Given the description of an element on the screen output the (x, y) to click on. 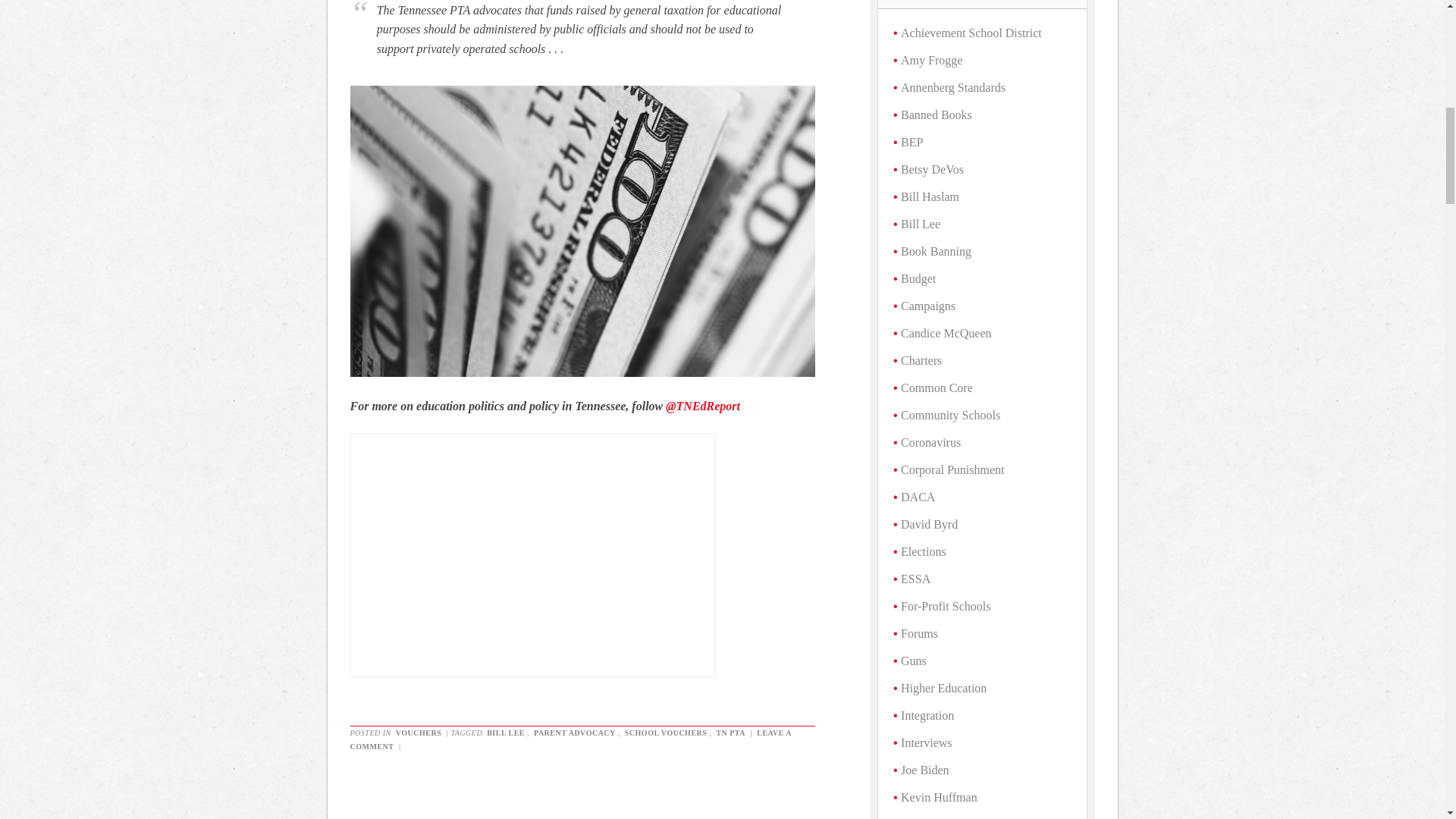
BILL LEE (505, 732)
Banned Books (936, 114)
Campaigns (928, 305)
Book Banning (936, 250)
Amy Frogge (931, 60)
PARENT ADVOCACY (574, 732)
Bill Lee (920, 223)
Betsy DeVos (932, 169)
BEP (912, 141)
Achievement School District (971, 32)
Annenberg Standards (953, 87)
Budget (918, 278)
Bill Haslam (930, 196)
SCHOOL VOUCHERS (666, 732)
TN PTA (730, 732)
